Given the description of an element on the screen output the (x, y) to click on. 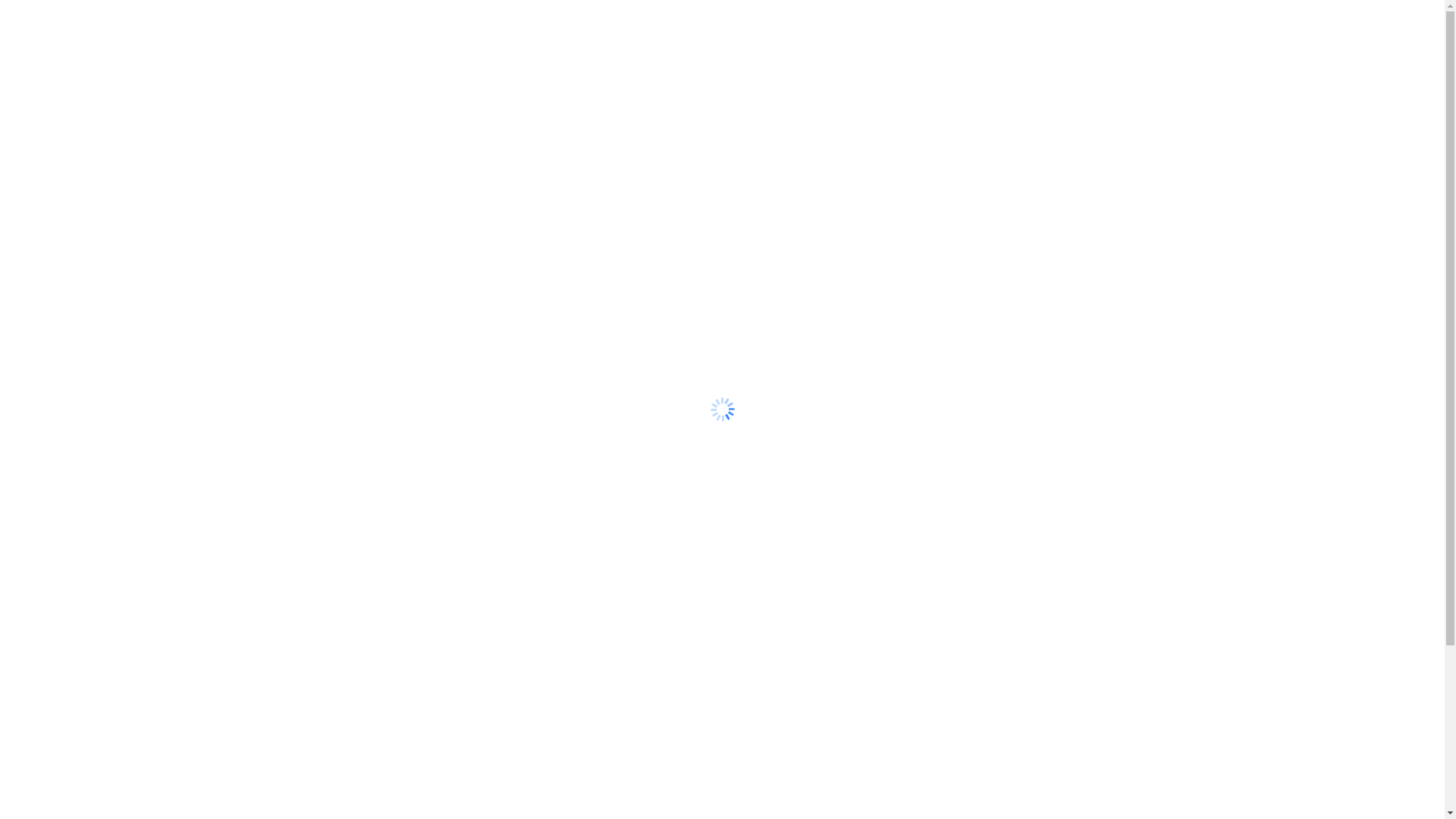
Optimisation
How it works Element type: text (917, 221)
Statistical Reports Element type: text (675, 138)
Internet Puzzle
Who we are Element type: text (684, 221)
SEO Services
What we do Element type: text (801, 221)
Contact Us
We're here to help Element type: text (1026, 221)
WHO WE ARE Element type: text (666, 17)
Optimisation Element type: text (662, 54)
Case Studies Element type: text (660, 66)
Myths and Truths Element type: text (673, 126)
HOW IT WORKS Element type: text (672, 41)
Pay Per Click Element type: text (661, 78)
Organic Google Listings Element type: text (689, 114)
SEO Search Results Element type: text (677, 90)
Website Design Element type: text (668, 102)
What is Internet Marketing Element type: text (698, 151)
CONTACT US Element type: text (664, 163)
Internet Puzzle Element type: hover (467, 94)
WHAT WE DO Element type: text (666, 29)
